Given the description of an element on the screen output the (x, y) to click on. 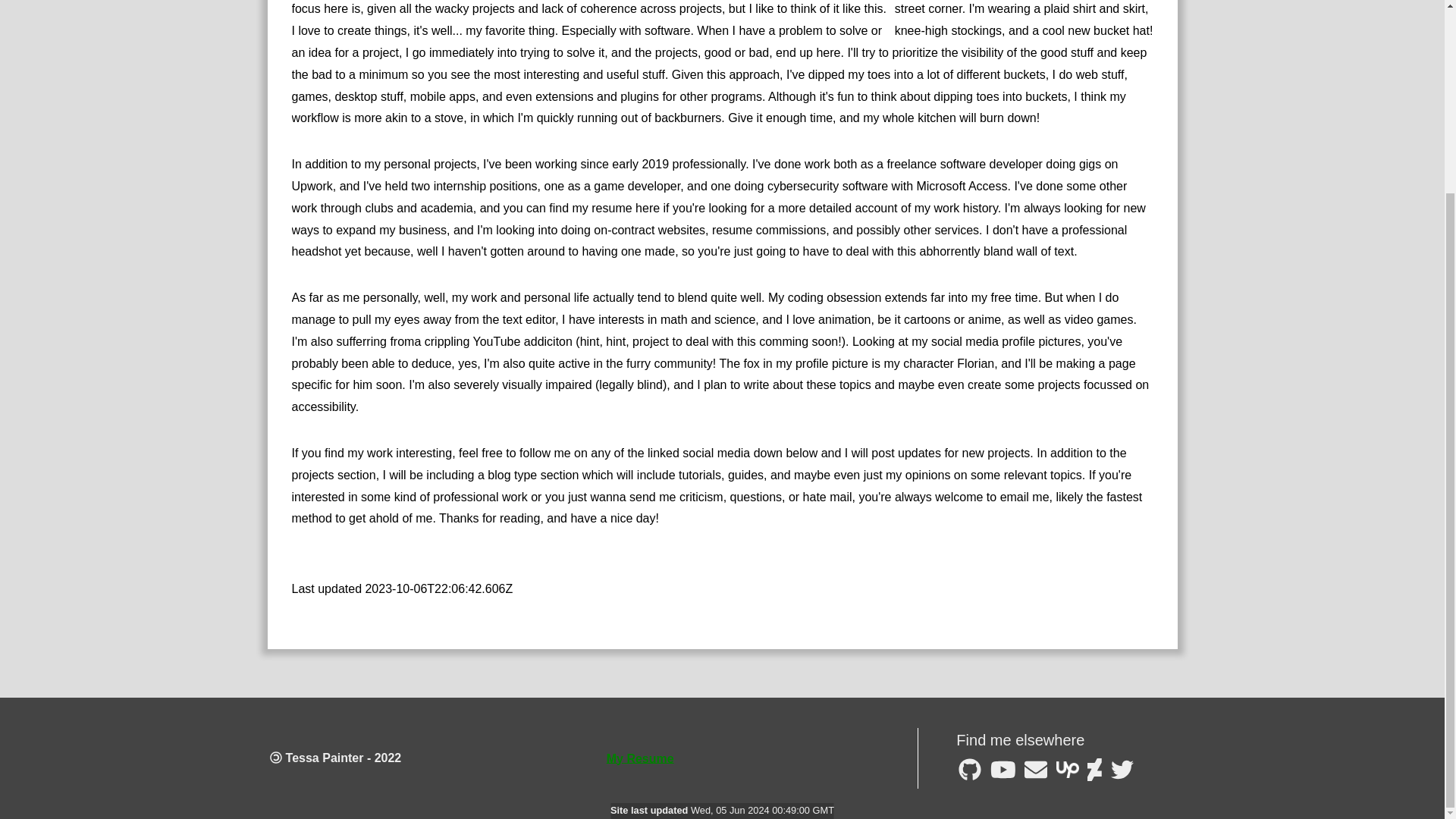
My Resume (640, 758)
